Given the description of an element on the screen output the (x, y) to click on. 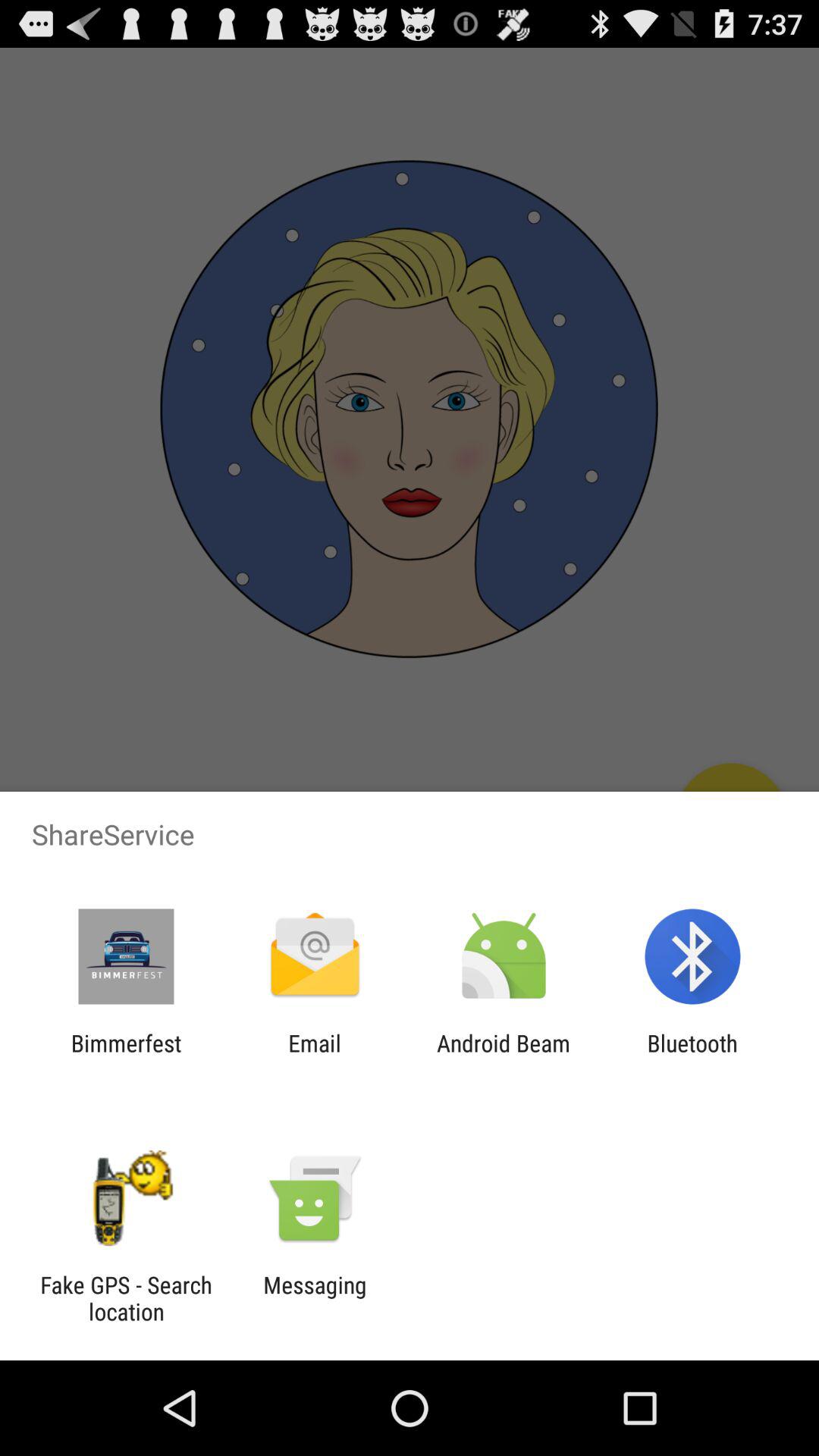
launch the email (314, 1056)
